Given the description of an element on the screen output the (x, y) to click on. 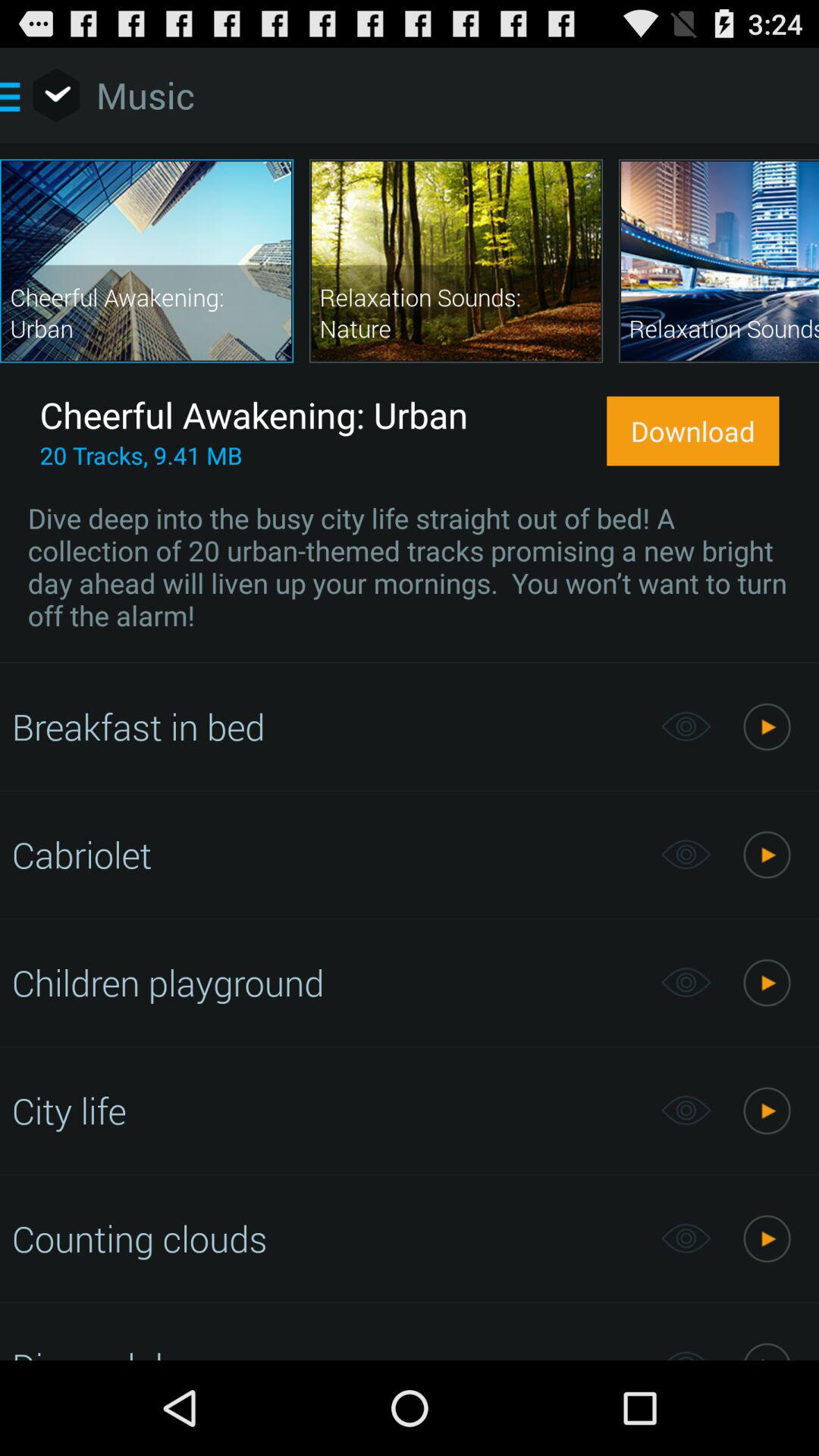
scroll until download button (692, 430)
